Given the description of an element on the screen output the (x, y) to click on. 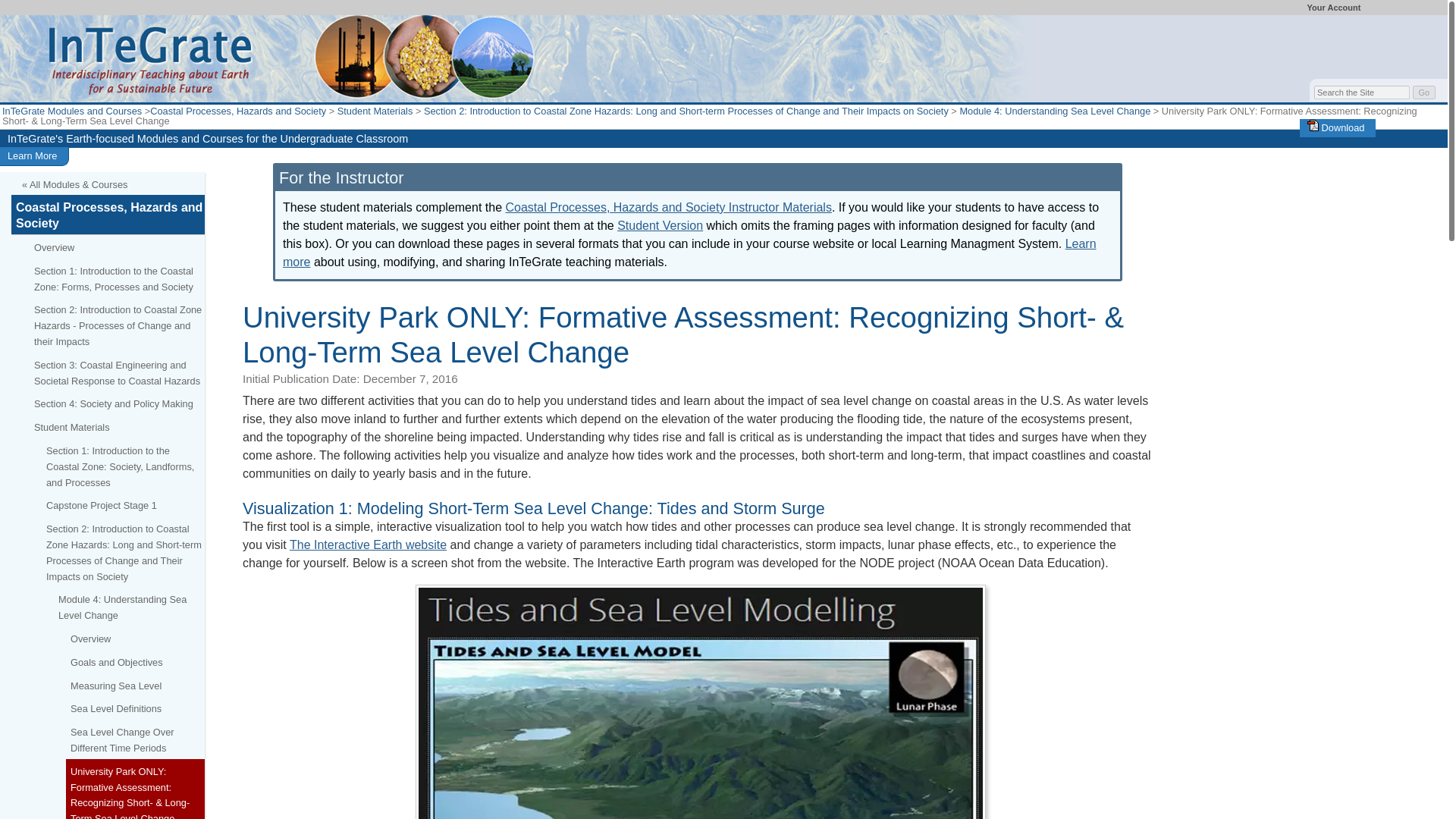
Coastal Processes, Hazards and Society (108, 214)
Coastal Processes, Hazards and Society (237, 111)
Module 4: Understanding Sea Level Change (1054, 111)
Download (1335, 127)
The Interactive Earth website (367, 544)
InTeGrate Modules and Courses (71, 111)
Overview (117, 246)
Go (1423, 92)
Learn More (31, 155)
Student Version (660, 225)
Learn more (689, 252)
